Given the description of an element on the screen output the (x, y) to click on. 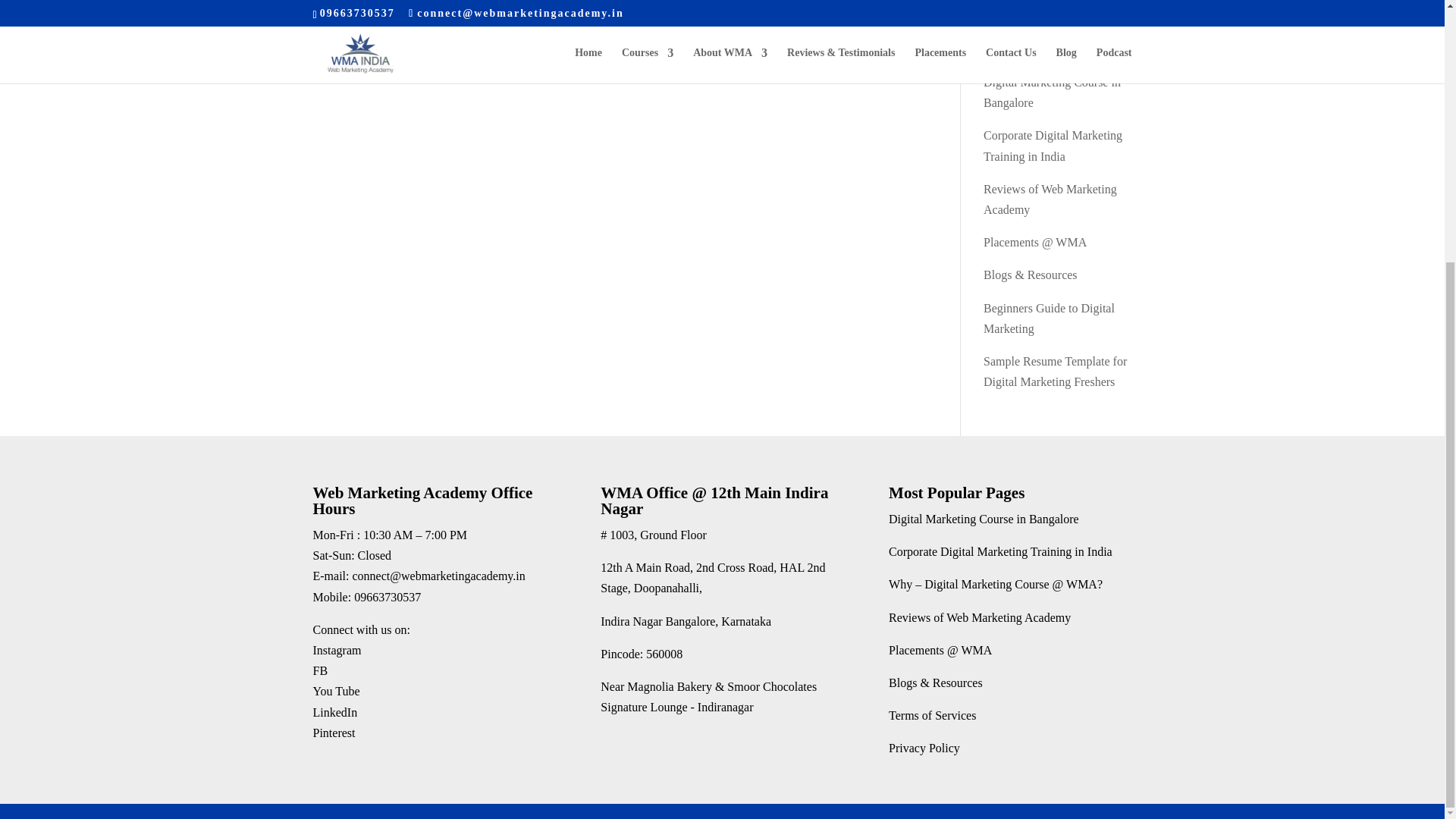
Digital Marketing Course in Bangalore (983, 518)
Corporate Digital Marketing Training in India (1053, 145)
You Tube (336, 690)
Digital Marketing Course in Bangalore (1052, 92)
Pinterest (334, 732)
FB (320, 670)
LinkedIn (334, 712)
Beginners Guide to Digital Marketing (1049, 318)
Sample Resume Template for Digital Marketing Freshers (1055, 371)
Instagram (337, 649)
09663730537 (386, 596)
Reviews of Web Marketing Academy (979, 617)
Reviews of Web Marketing Academy (1050, 199)
Corporate Digital Marketing Training in India (1000, 551)
